Given the description of an element on the screen output the (x, y) to click on. 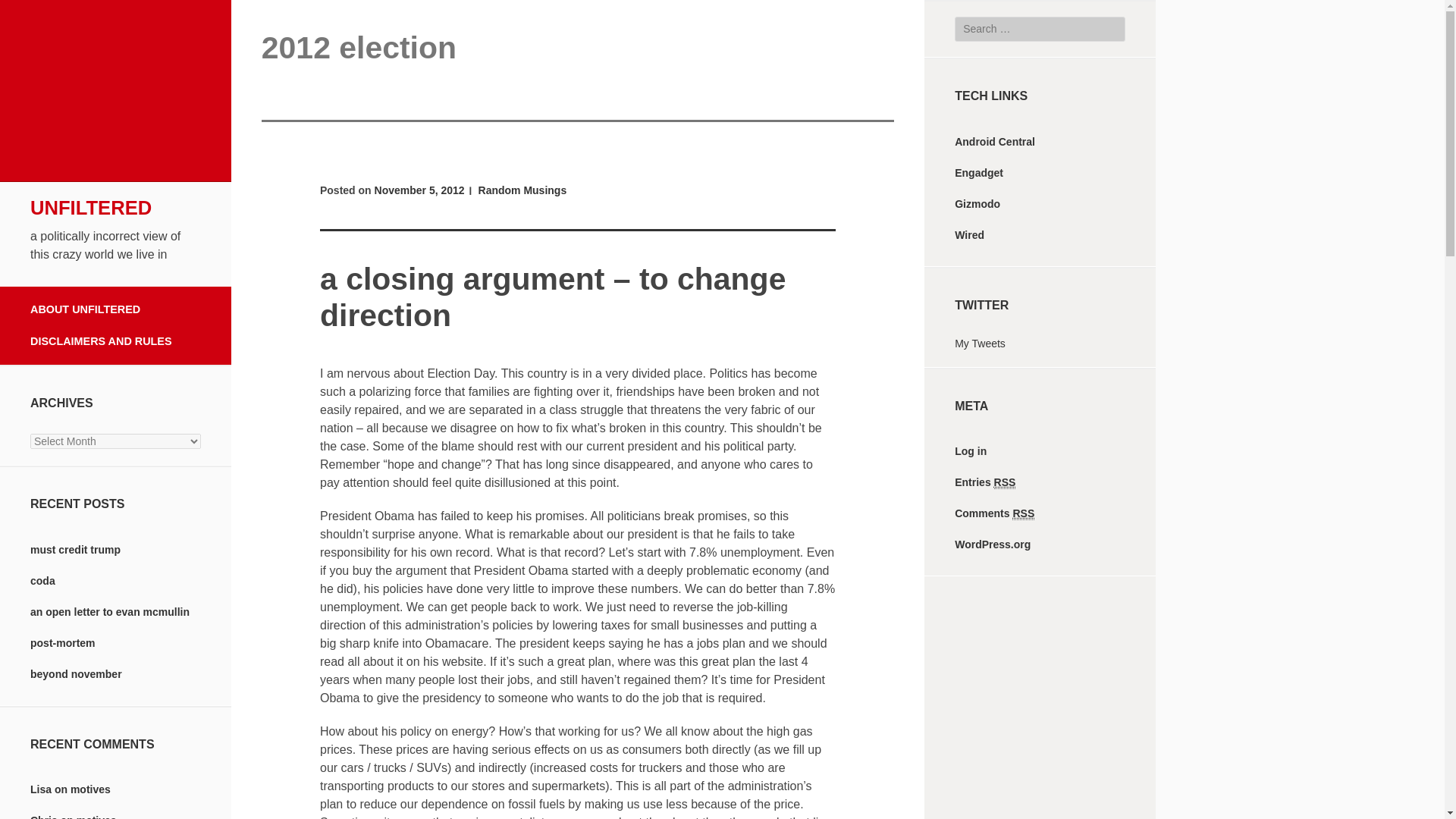
UNFILTERED (90, 207)
an open letter to evan mcmullin (109, 612)
Android Central (995, 141)
Wired (969, 234)
ABOUT UNFILTERED (115, 305)
News and gadget reviews for that vastly superior phone OS (995, 141)
Lisa (40, 788)
Search (27, 13)
post-mortem (63, 643)
